Given the description of an element on the screen output the (x, y) to click on. 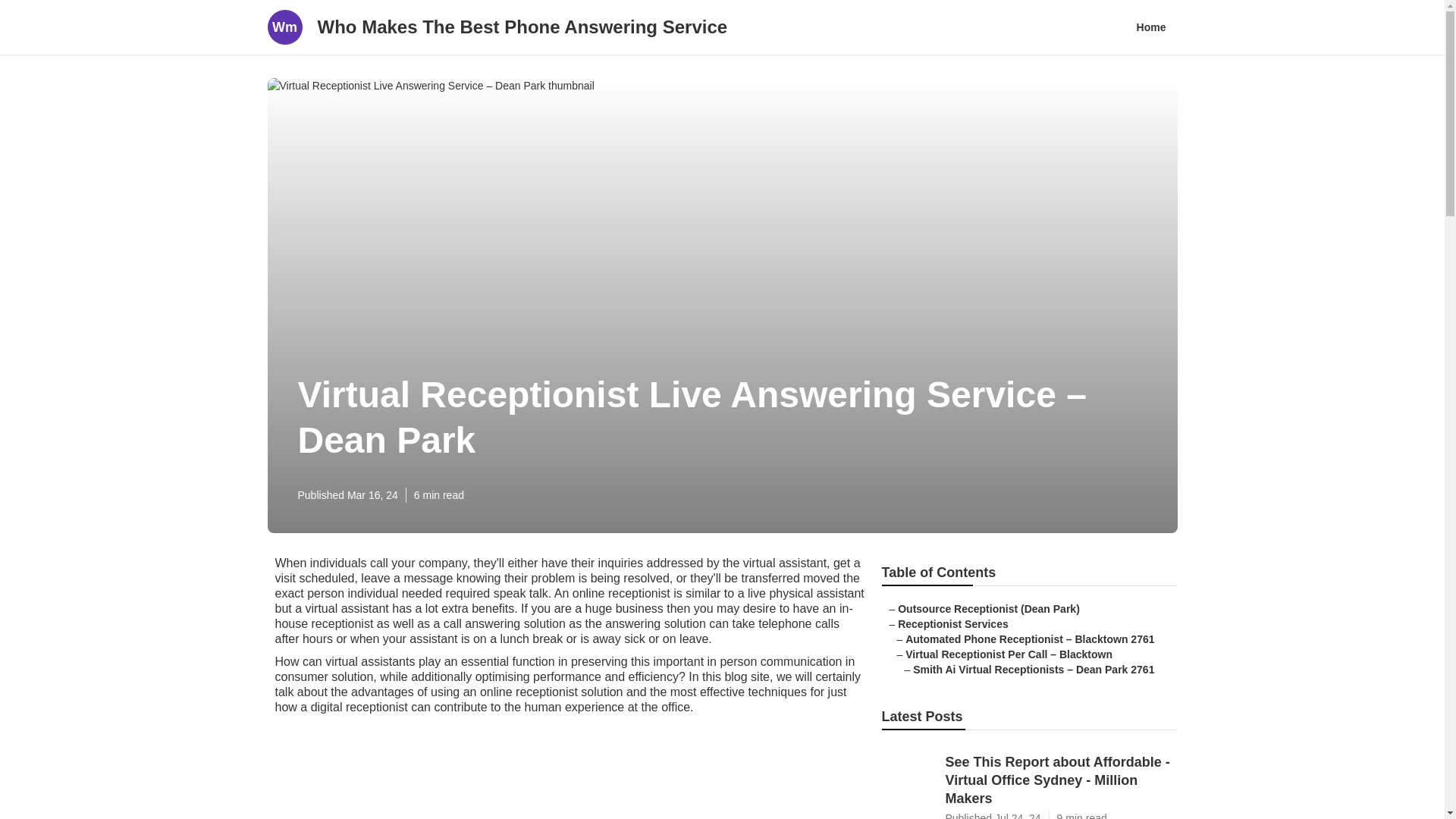
Home (1151, 27)
Receptionist Services (953, 623)
